Given the description of an element on the screen output the (x, y) to click on. 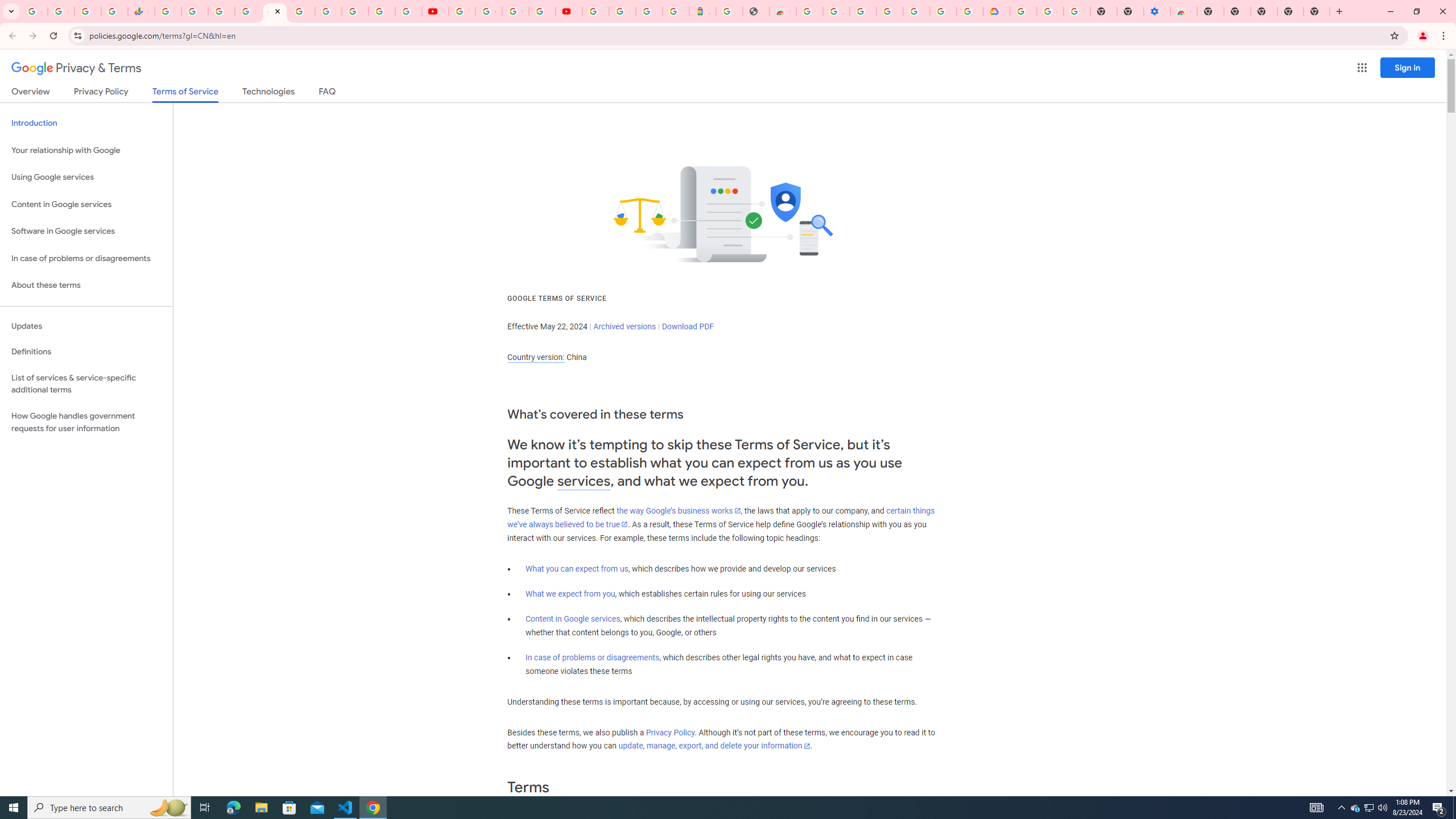
update, manage, export, and delete your information (714, 746)
Atour Hotel - Google hotels (702, 11)
Google Workspace Admin Community (34, 11)
Google Account Help (1050, 11)
Definitions (86, 352)
Your relationship with Google (86, 150)
services (583, 480)
YouTube (462, 11)
